Given the description of an element on the screen output the (x, y) to click on. 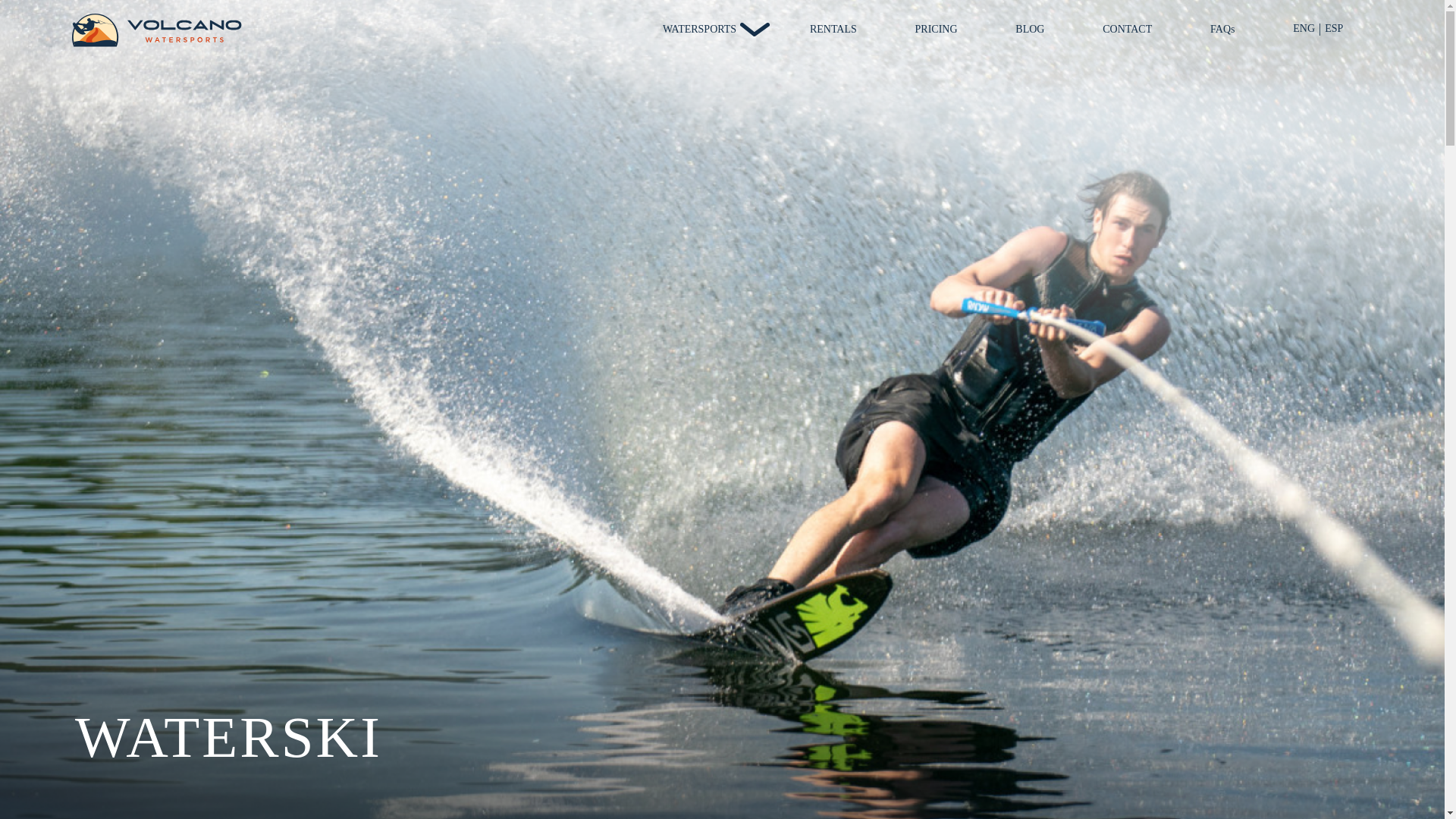
RENTALS (833, 30)
PRICING (936, 30)
CONTACT (1126, 30)
WATERSPORTS (706, 30)
FAQs (1221, 30)
BLOG (1028, 30)
